Given the description of an element on the screen output the (x, y) to click on. 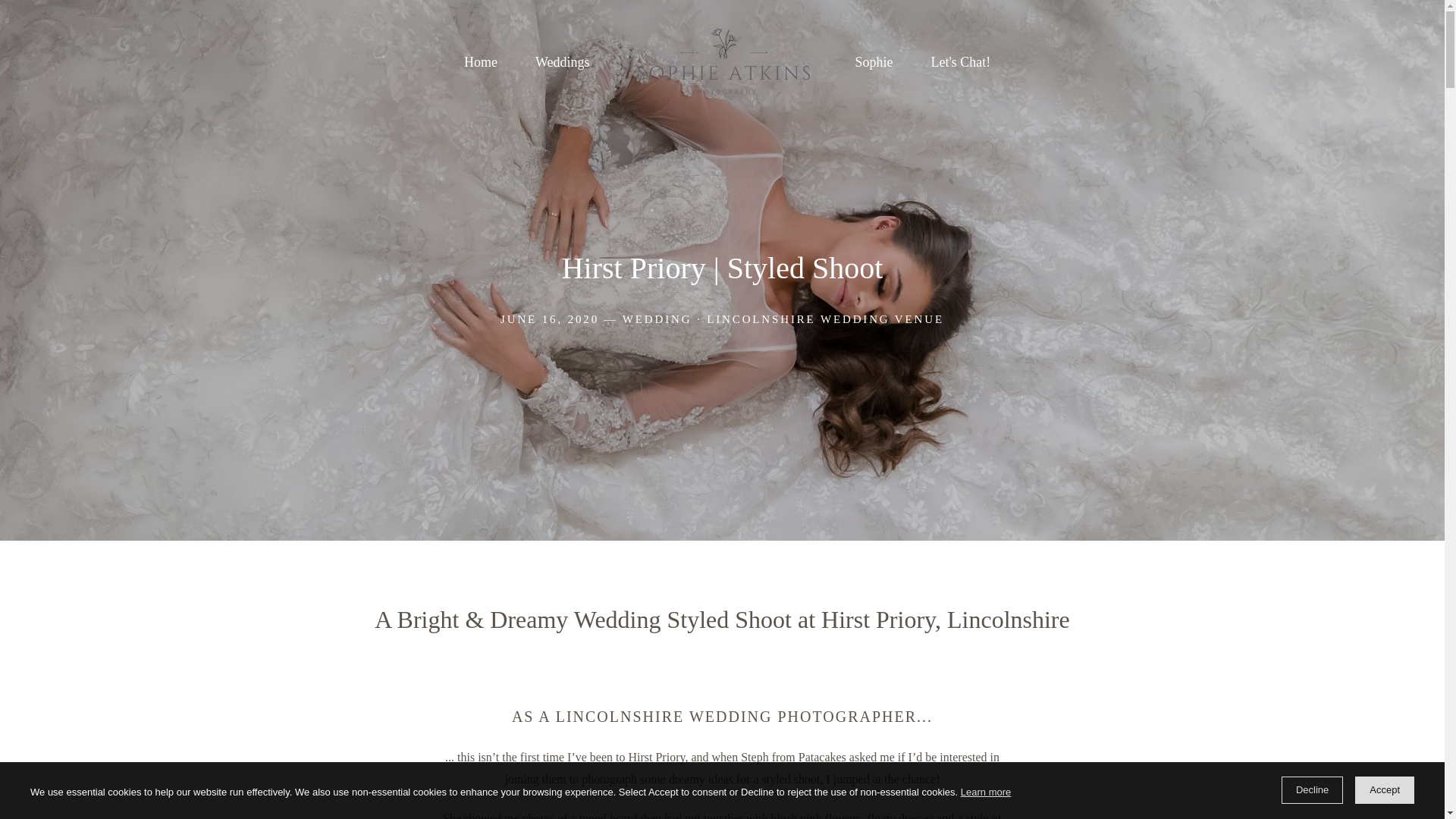
WEDDING (658, 318)
Decline (1311, 789)
Learn more (985, 791)
Home (480, 61)
Sophie (873, 61)
LINCOLNSHIRE WEDDING VENUE (824, 318)
Weddings (562, 61)
Let's Chat! (961, 61)
Accept (1384, 789)
